Given the description of an element on the screen output the (x, y) to click on. 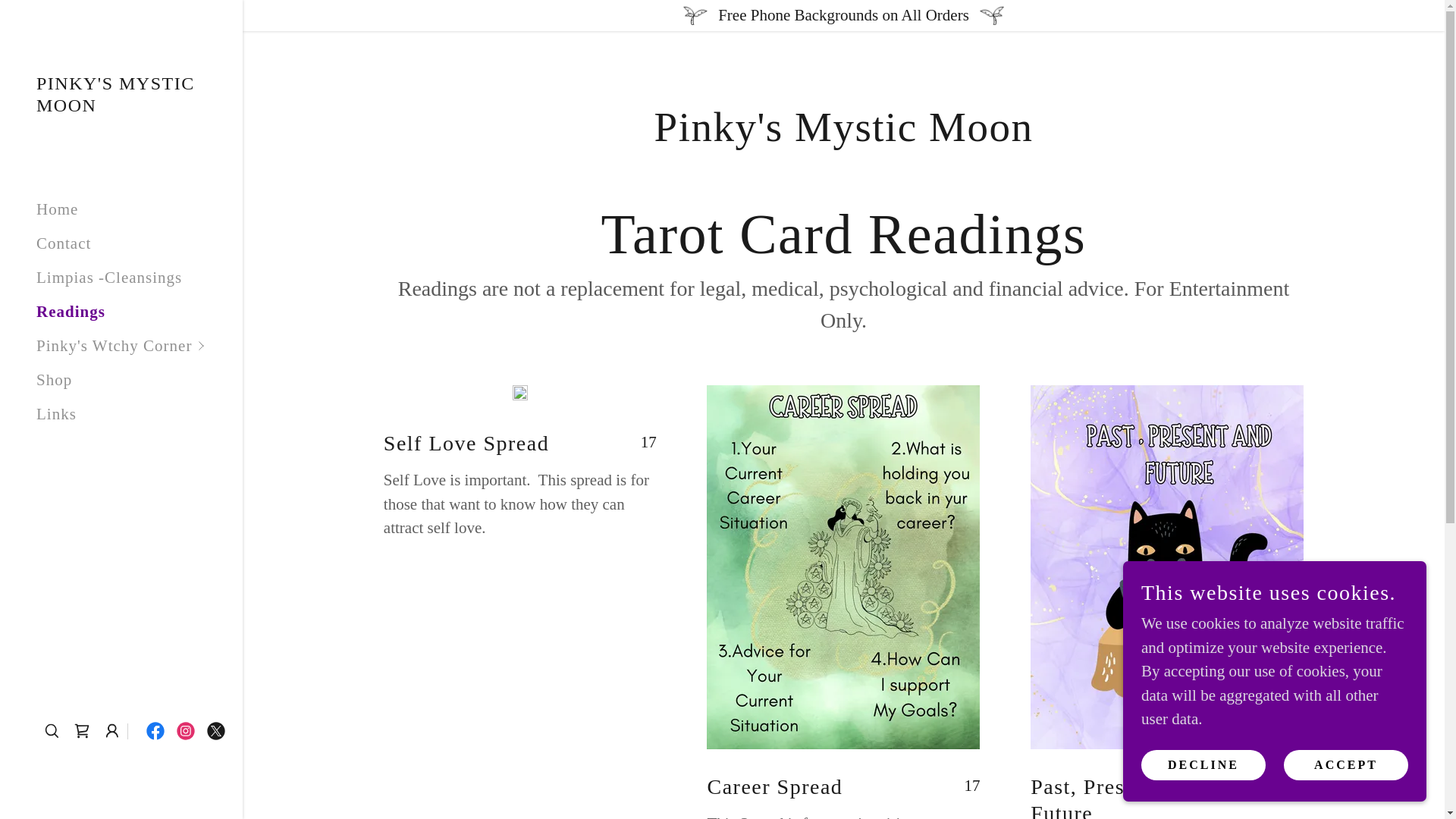
PINKY'S MYSTIC MOON (121, 106)
Shop (53, 380)
Limpias -Cleansings (109, 277)
Home (57, 208)
Contact (63, 243)
Pinky's Wtchy Corner (139, 346)
PINKY'S MYSTIC MOON (121, 106)
Readings (70, 311)
Links (56, 413)
